Given the description of an element on the screen output the (x, y) to click on. 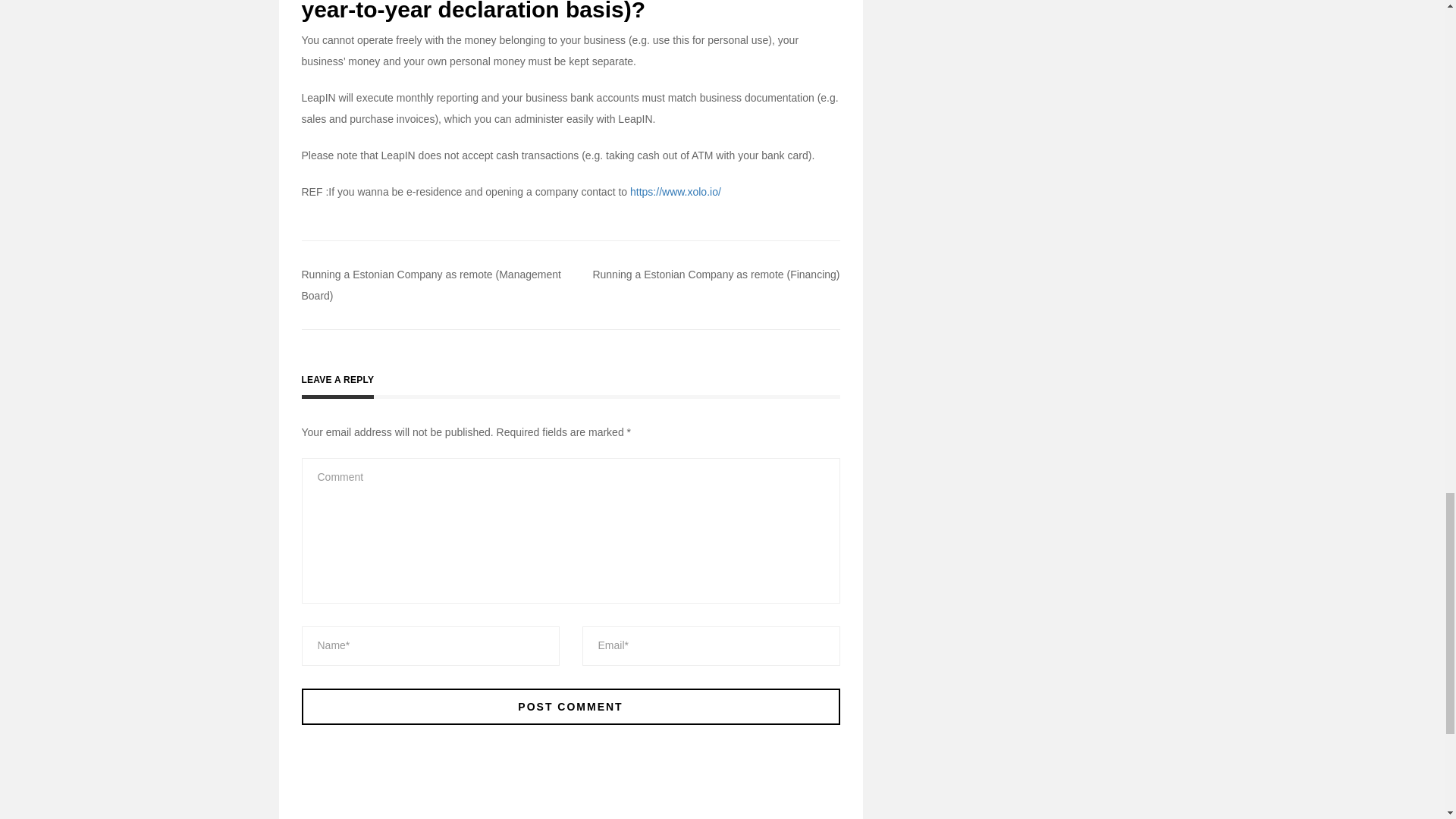
Post Comment (570, 706)
